Given the description of an element on the screen output the (x, y) to click on. 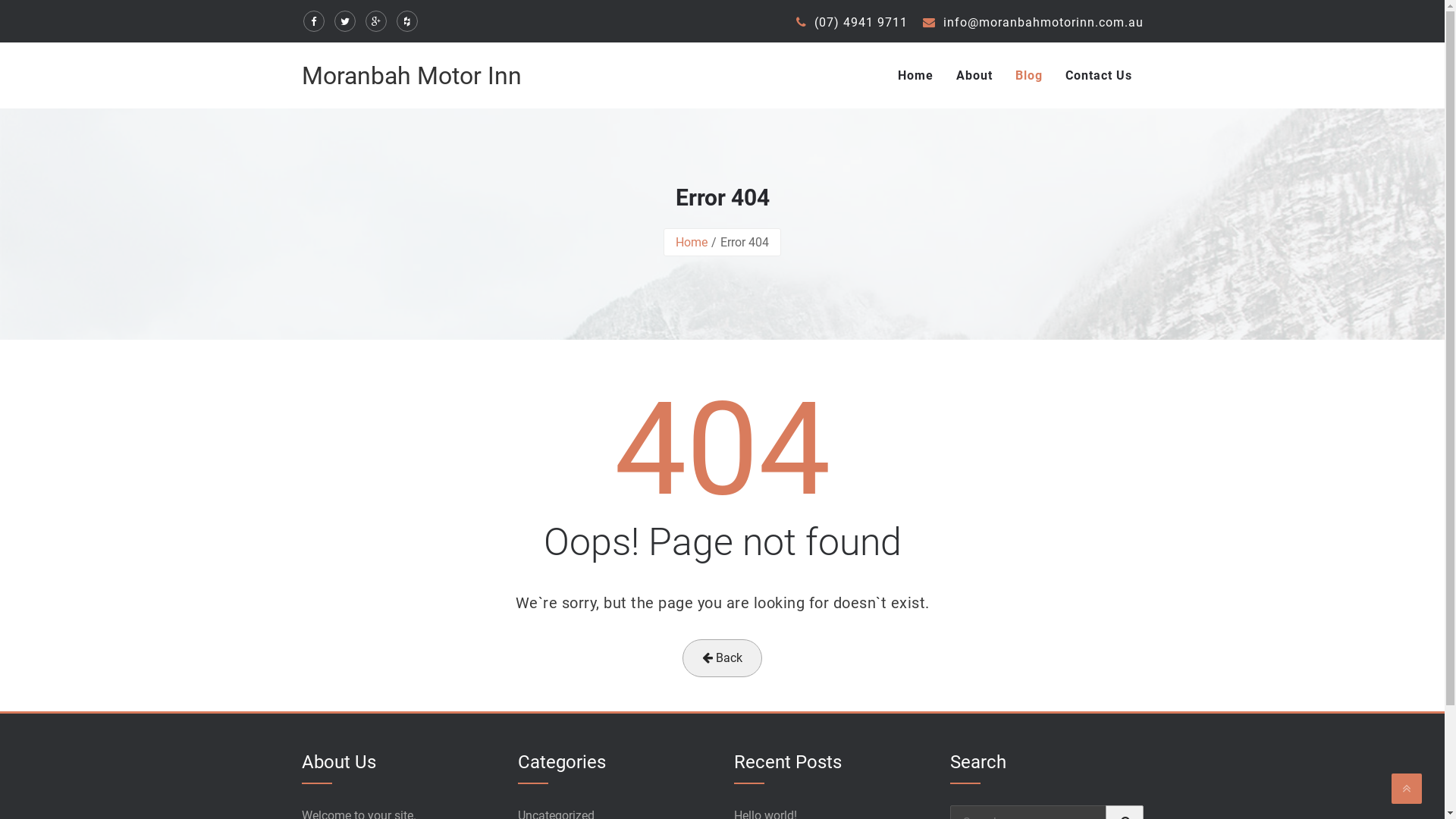
Home Element type: text (914, 75)
About Element type: text (974, 75)
Blog Element type: text (1029, 75)
Contact Us Element type: text (1098, 75)
(07) 4941 9711 Element type: text (851, 22)
info@moranbahmotorinn.com.au Element type: text (1032, 22)
Moranbah Motor Inn Element type: text (411, 75)
Home Element type: text (691, 242)
Scroll Top Element type: hover (1406, 788)
Back Element type: text (722, 658)
